Given the description of an element on the screen output the (x, y) to click on. 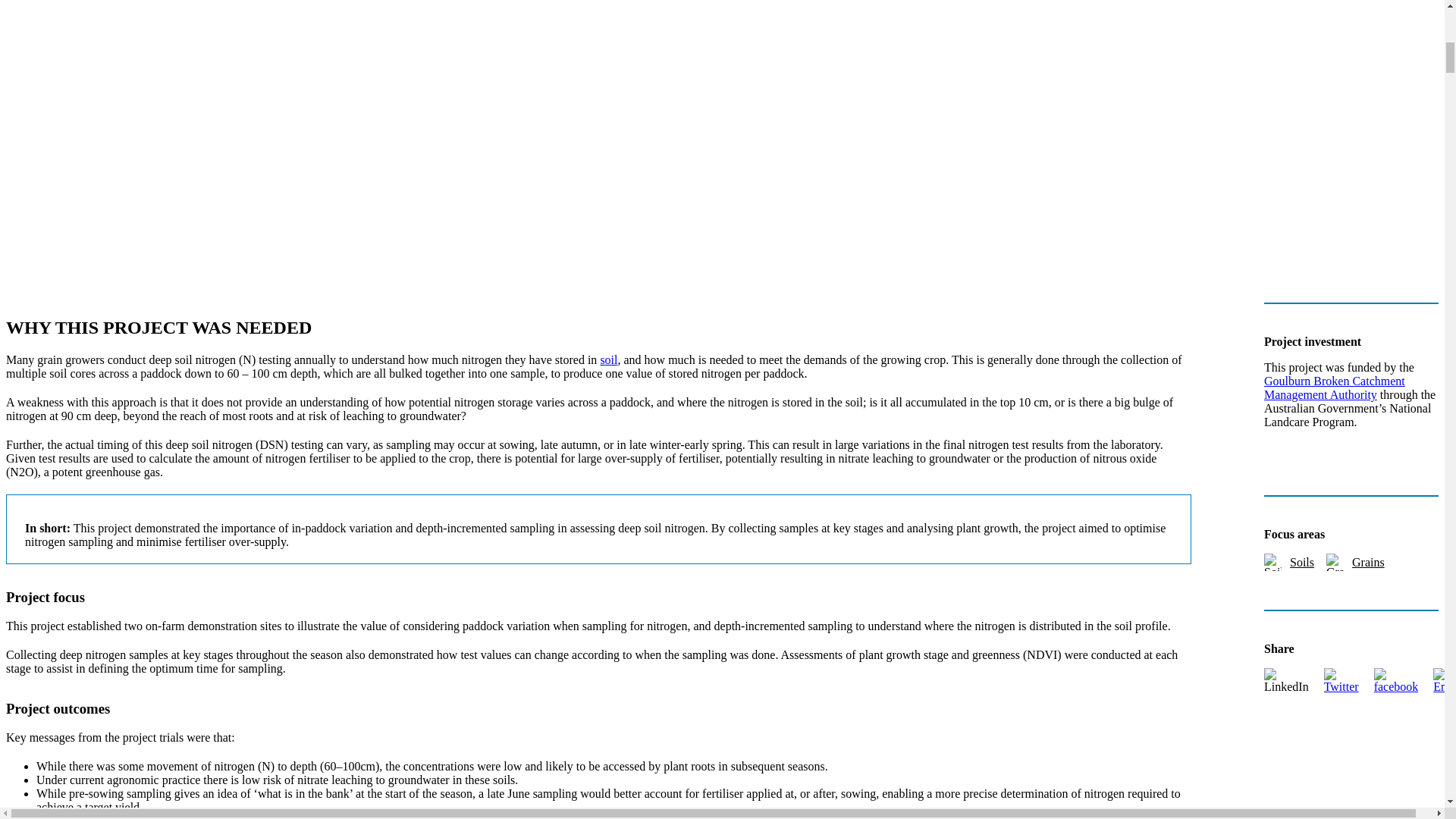
linkedin (1285, 686)
